Given the description of an element on the screen output the (x, y) to click on. 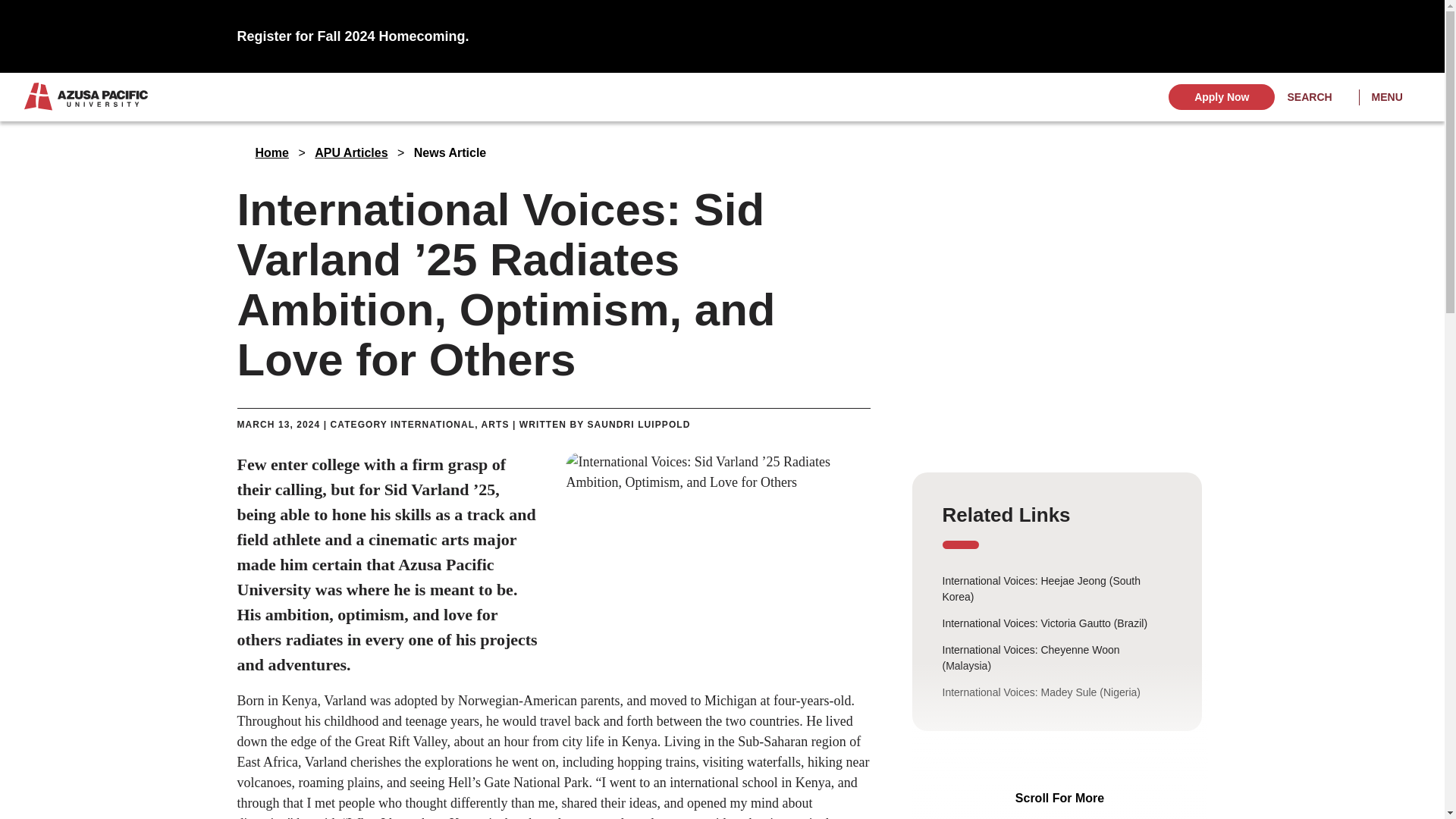
SEARCH (1316, 97)
MENU (1396, 97)
Register for Fall 2024 Homecoming. (351, 36)
Skip to main content (722, 22)
Apply Now (1222, 96)
